Given the description of an element on the screen output the (x, y) to click on. 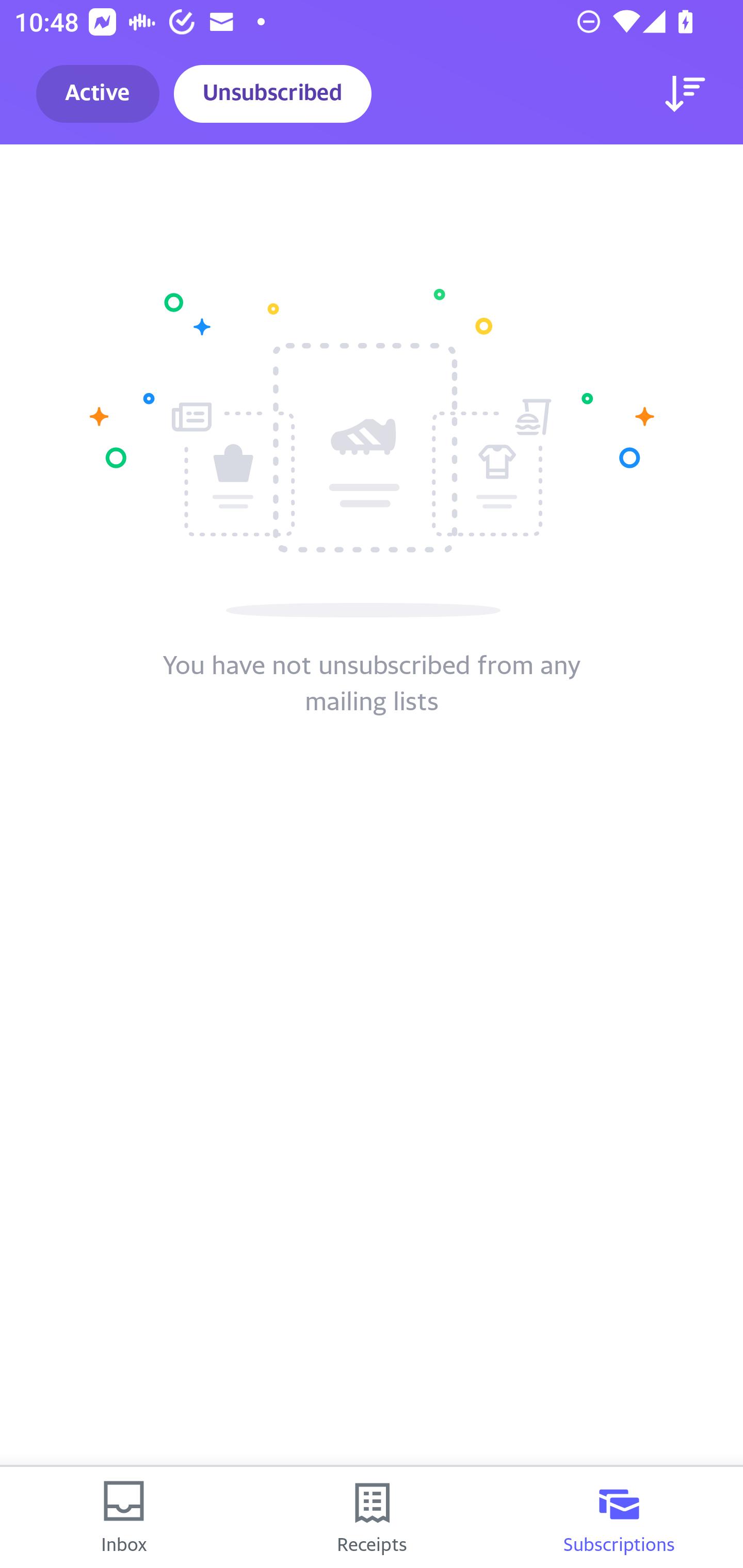
Active (97, 93)
Sort (684, 93)
Inbox (123, 1517)
Receipts (371, 1517)
Subscriptions (619, 1517)
